Given the description of an element on the screen output the (x, y) to click on. 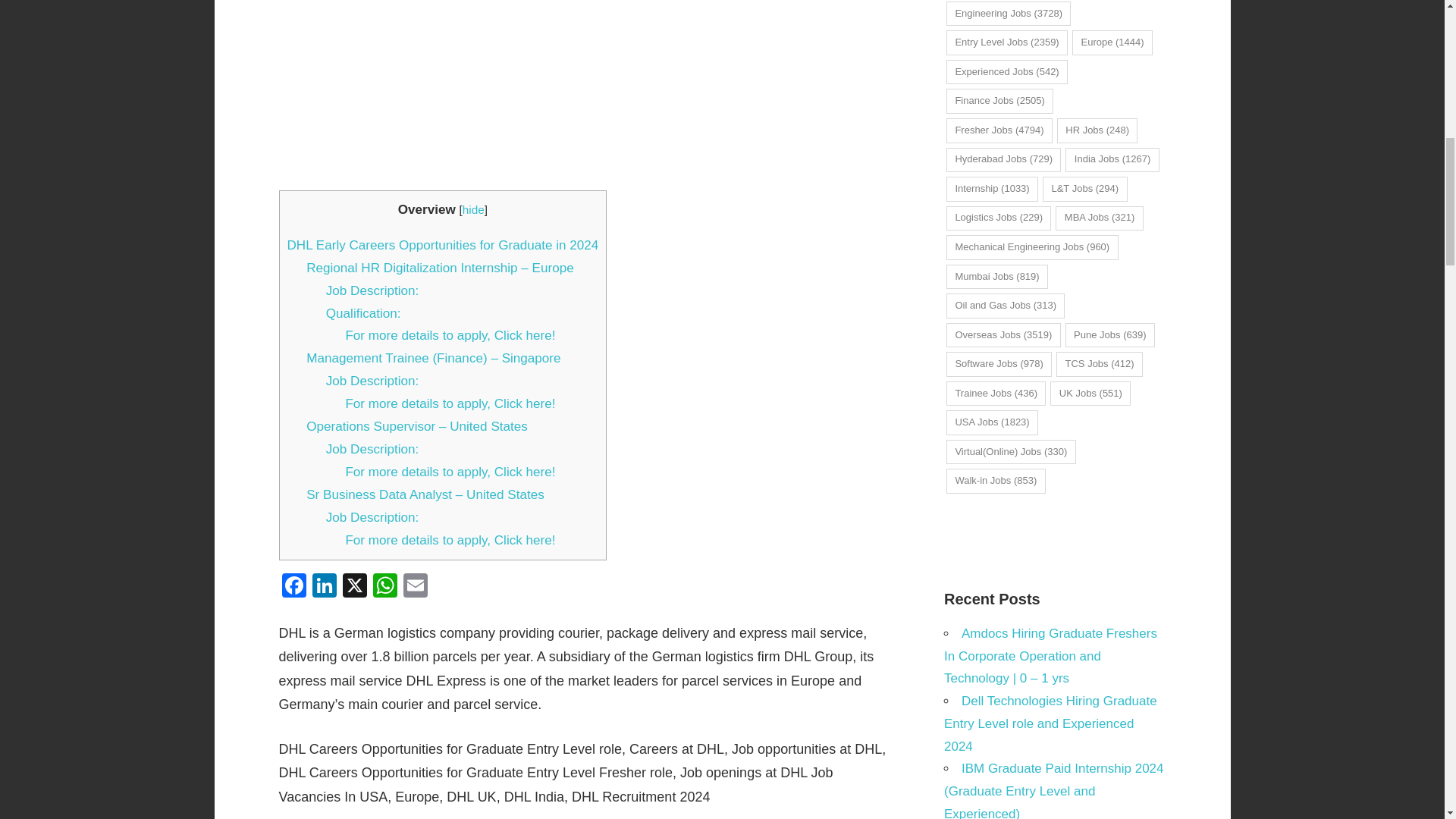
LinkedIn (323, 587)
hide (473, 209)
WhatsApp (384, 587)
Facebook (293, 587)
Advertisement (586, 95)
DHL Early Careers Opportunities for Graduate in 2024 (442, 245)
Email (415, 587)
X (354, 587)
